Given the description of an element on the screen output the (x, y) to click on. 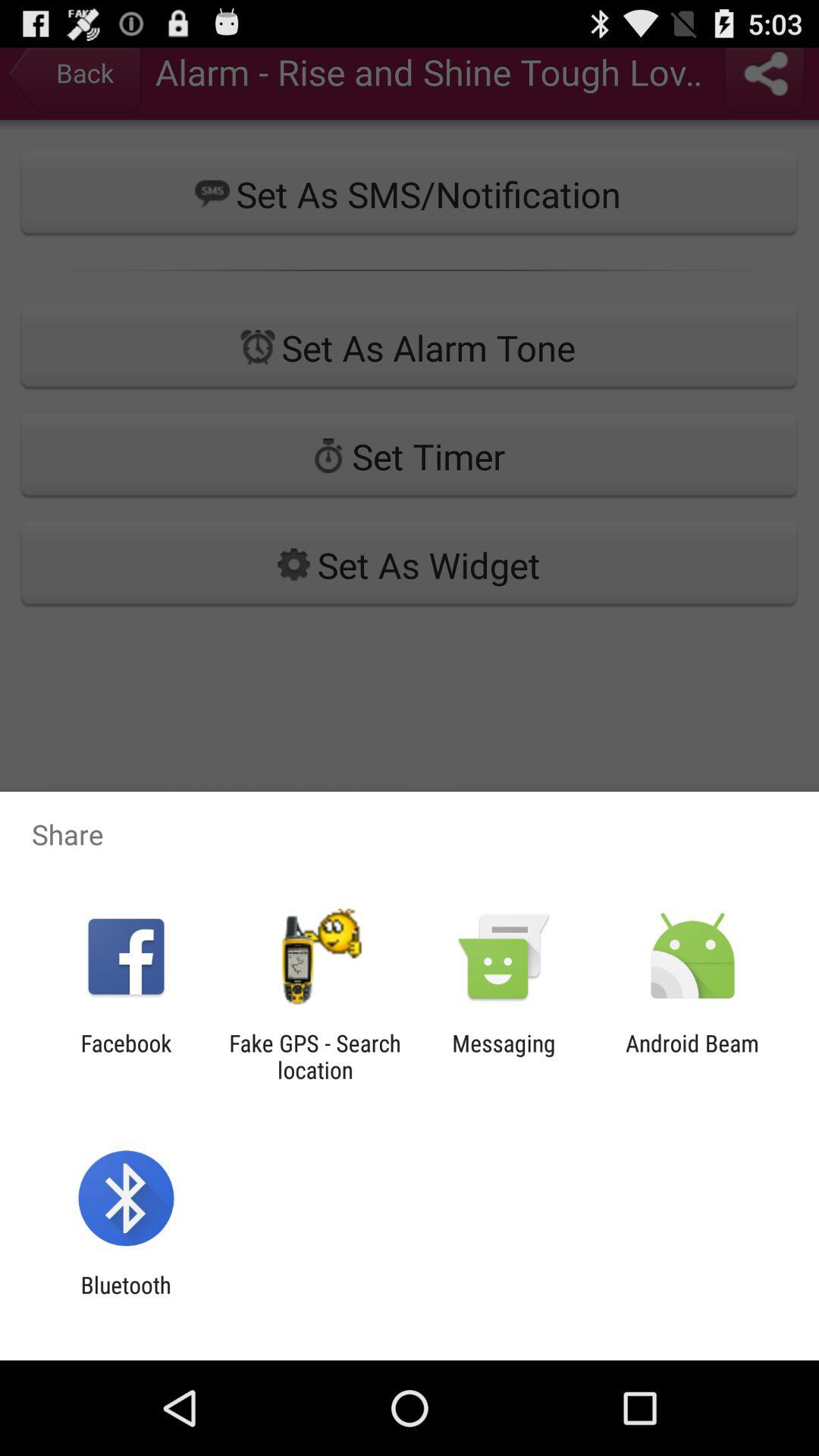
select item to the left of the android beam (503, 1056)
